Given the description of an element on the screen output the (x, y) to click on. 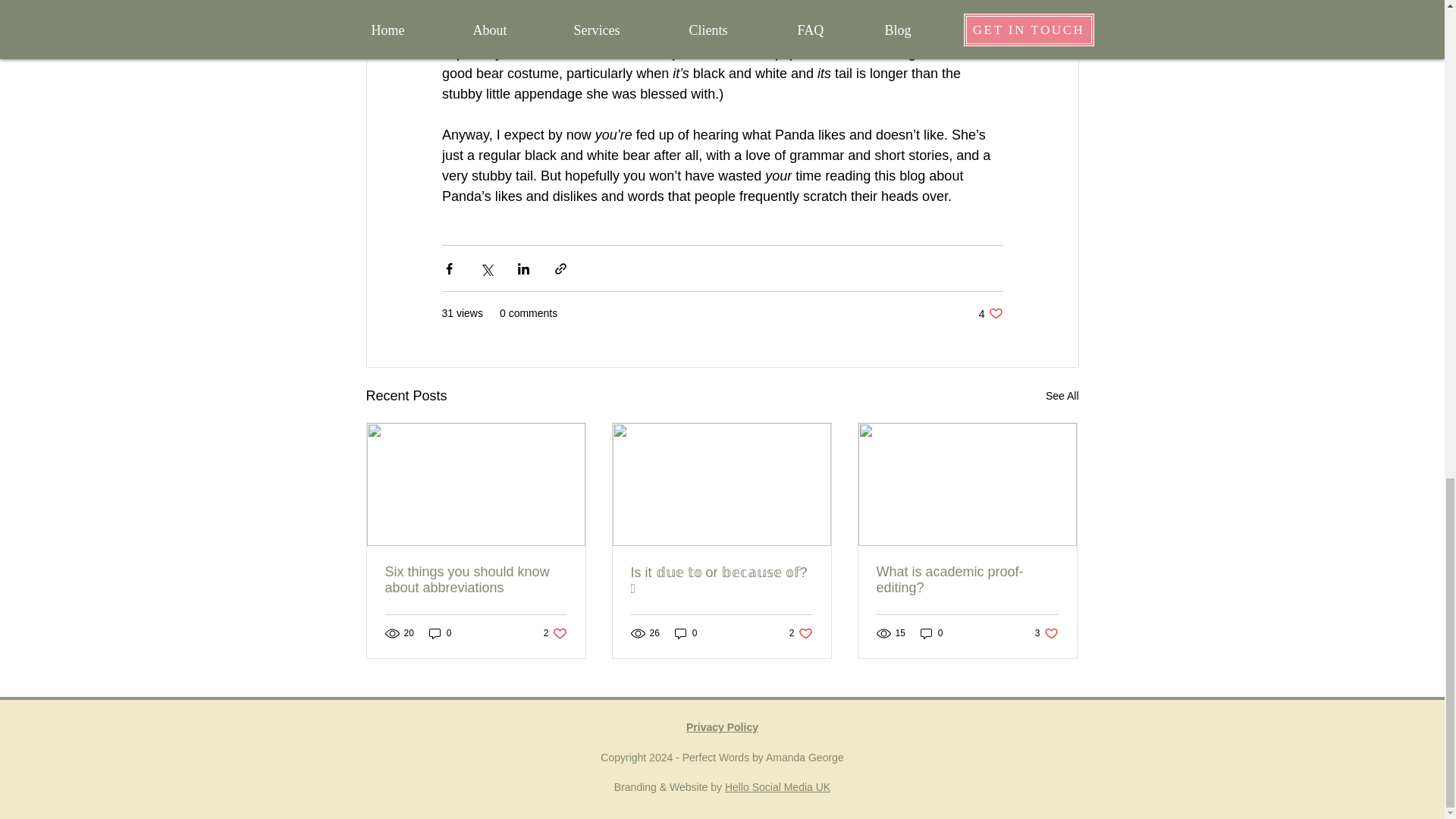
Privacy Policy (990, 313)
What is academic proof-editing? (721, 727)
0 (967, 580)
Hello Social Media UK (440, 633)
0 (777, 787)
Six things you should know about abbreviations (931, 633)
